Given the description of an element on the screen output the (x, y) to click on. 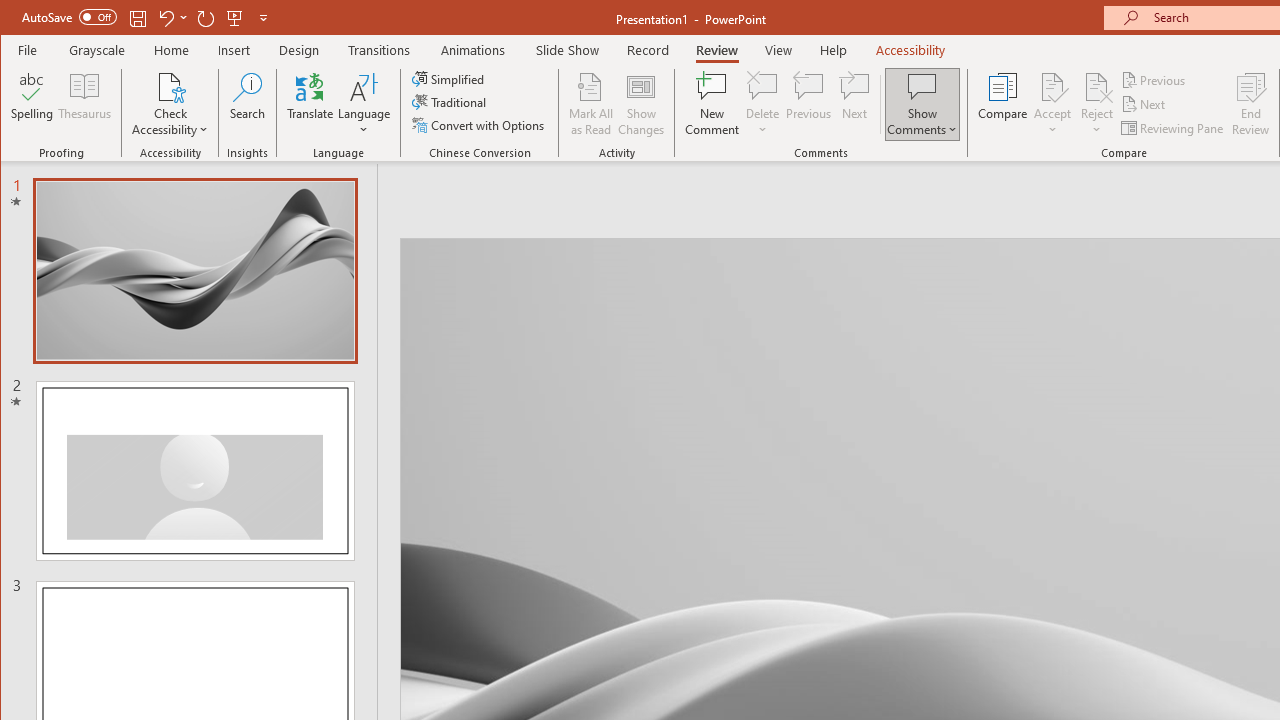
Accept Change (1052, 86)
Convert with Options... (479, 124)
Design (299, 50)
Check Accessibility (170, 86)
Show Comments (922, 104)
View (779, 50)
Record (648, 50)
Insert (233, 50)
Review (717, 50)
Accessibility (910, 50)
More Options (1096, 123)
Help (833, 50)
Transitions (379, 50)
End Review (1251, 104)
